Given the description of an element on the screen output the (x, y) to click on. 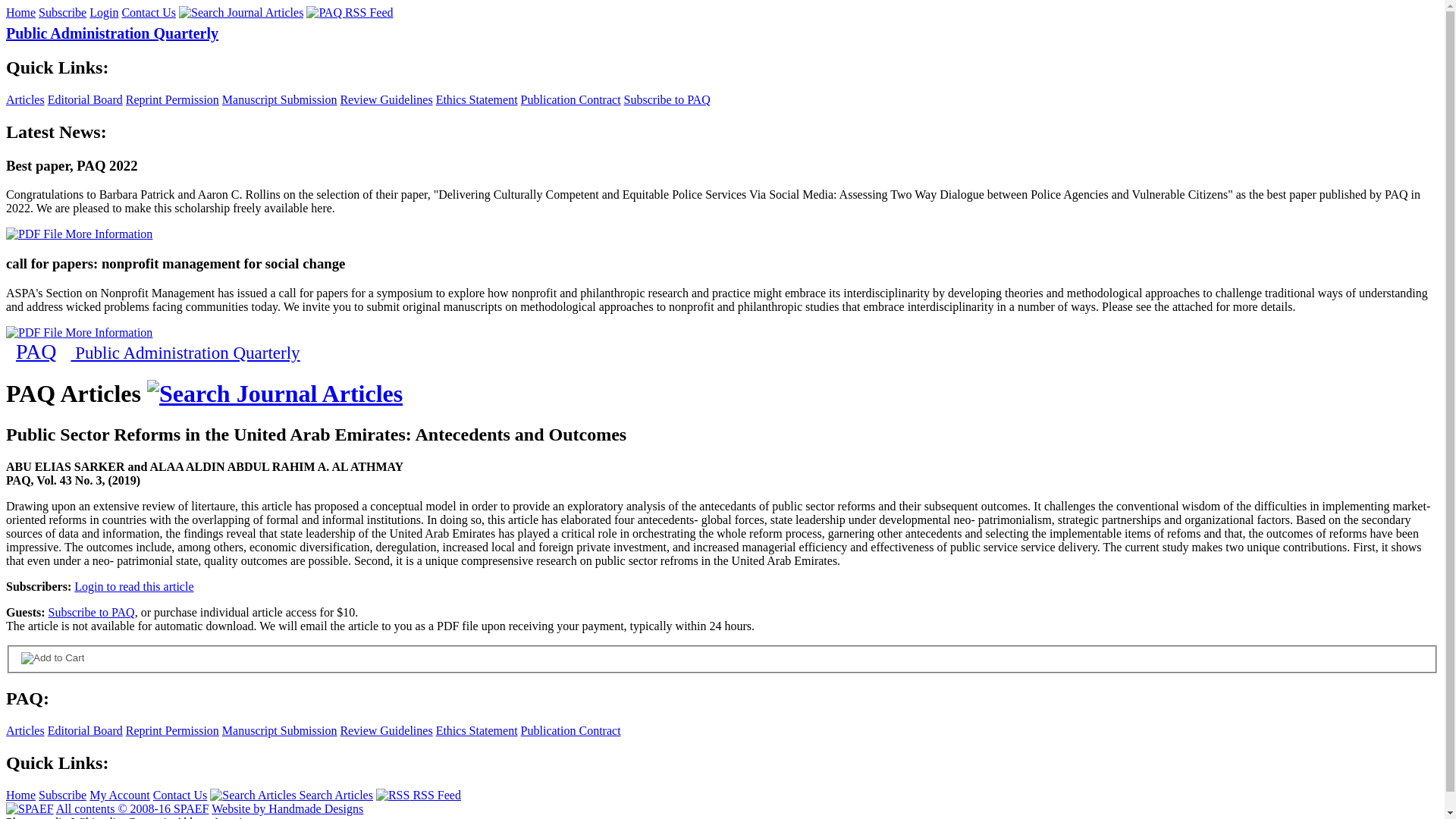
Website by Handmade Designs (286, 808)
Manuscript Submission (279, 99)
Manuscript Submission (279, 730)
RSS Feed (418, 794)
Subscribe (62, 794)
Public Administration Quarterly (111, 33)
Subscribe to PAQ (667, 99)
Editorial Board (85, 730)
Home (19, 794)
Articles (25, 99)
